Given the description of an element on the screen output the (x, y) to click on. 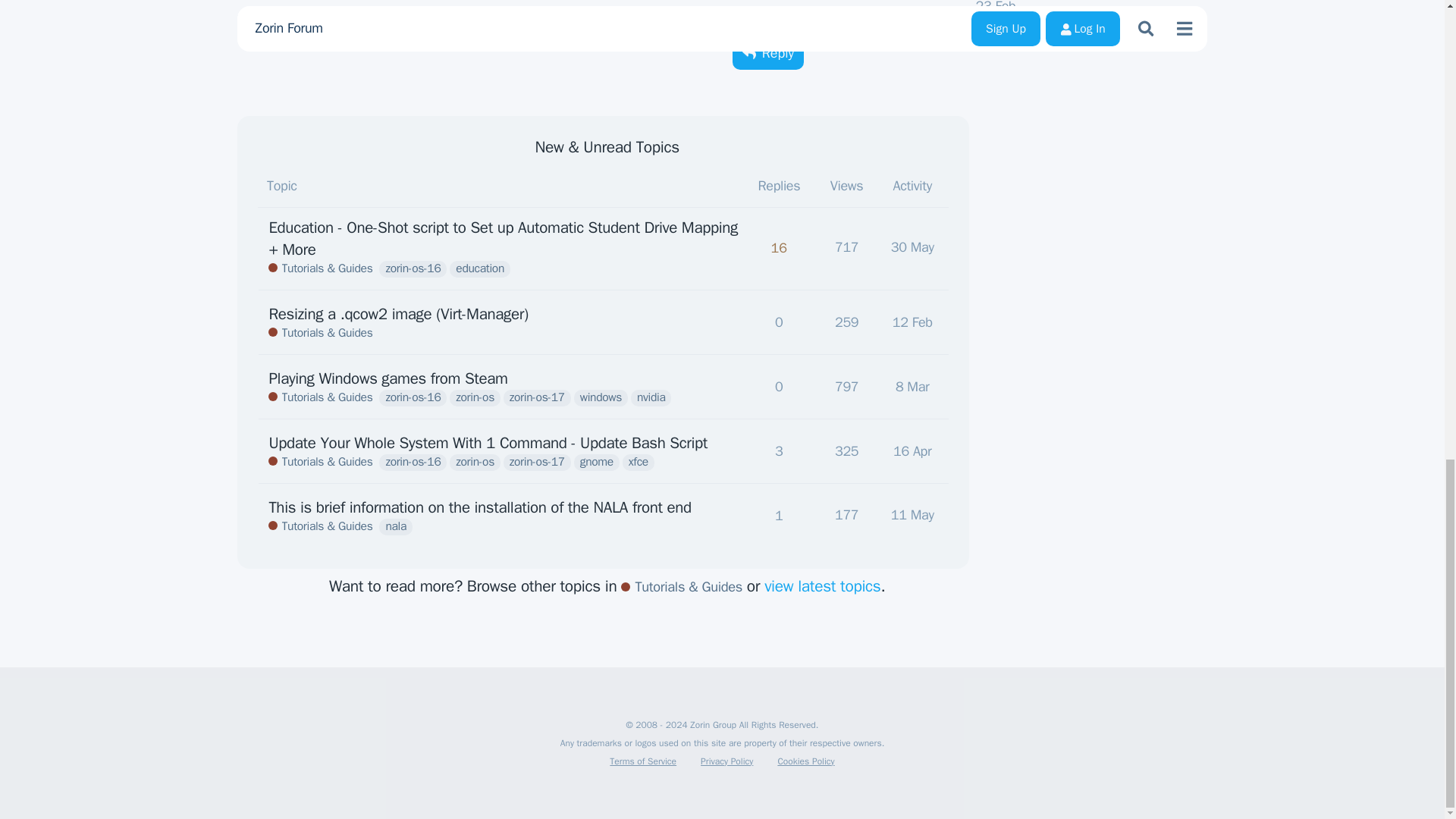
Write about how to do new and useful things in Zorin OS. (319, 269)
This topic has been viewed 717 times (846, 247)
education (480, 269)
zorin-os-16 (914, 253)
Write about how to do new and useful things in Zorin OS. (412, 269)
This topic has 16 replies with a high like to post ratio (319, 333)
30 May (778, 253)
This topic has 0 replies (911, 246)
Reply (778, 322)
